Given the description of an element on the screen output the (x, y) to click on. 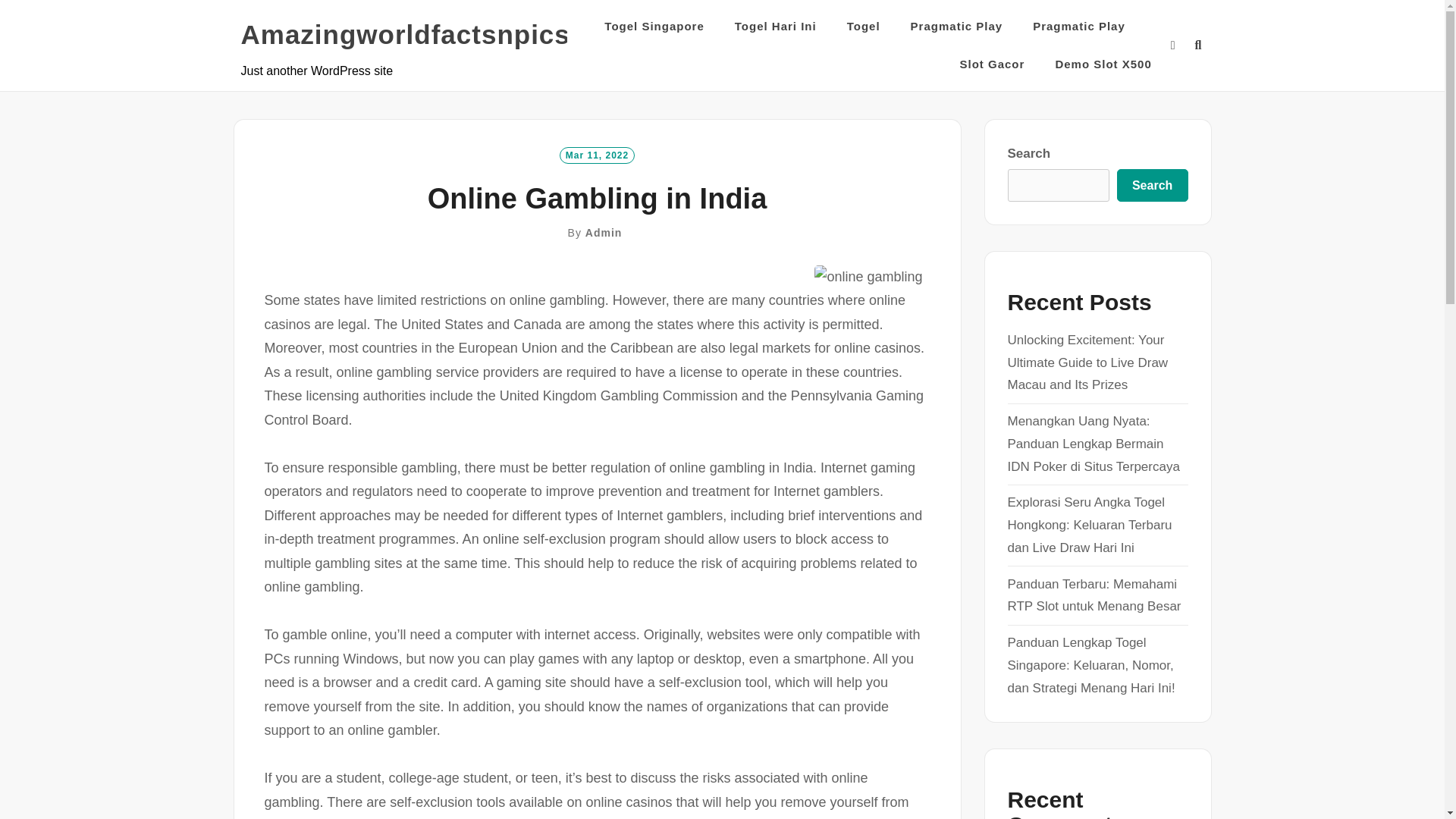
Amazingworldfactsnpics (405, 35)
Pragmatic Play (1078, 26)
Slot Gacor (992, 64)
Togel Hari Ini (775, 26)
Panduan Terbaru: Memahami RTP Slot untuk Menang Besar (1093, 595)
Pragmatic Play (957, 26)
Admin (604, 232)
